Given the description of an element on the screen output the (x, y) to click on. 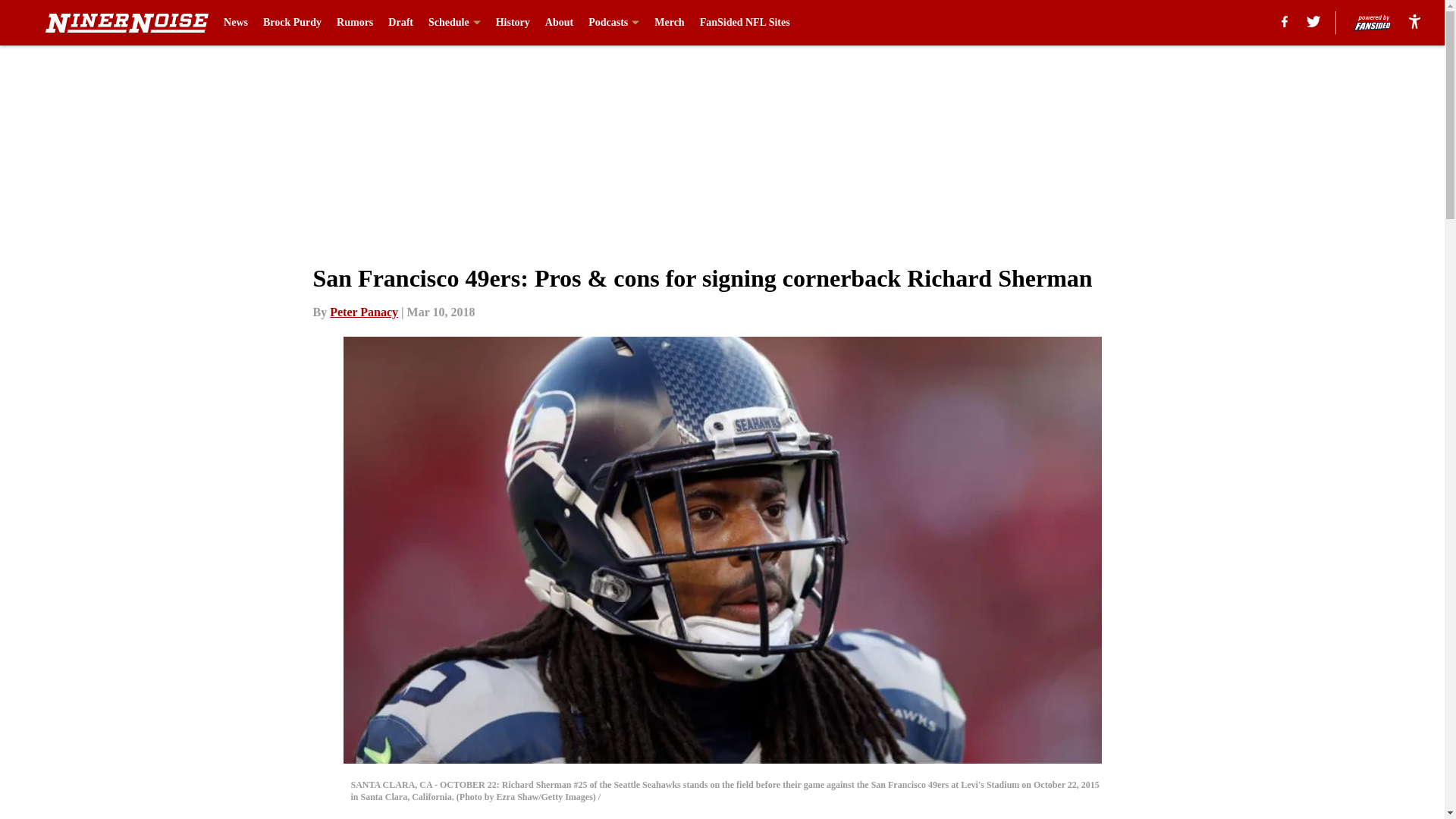
Merch (668, 22)
Peter Panacy (363, 311)
FanSided NFL Sites (745, 22)
About (558, 22)
History (512, 22)
News (235, 22)
Rumors (354, 22)
Draft (400, 22)
Brock Purdy (292, 22)
